Given the description of an element on the screen output the (x, y) to click on. 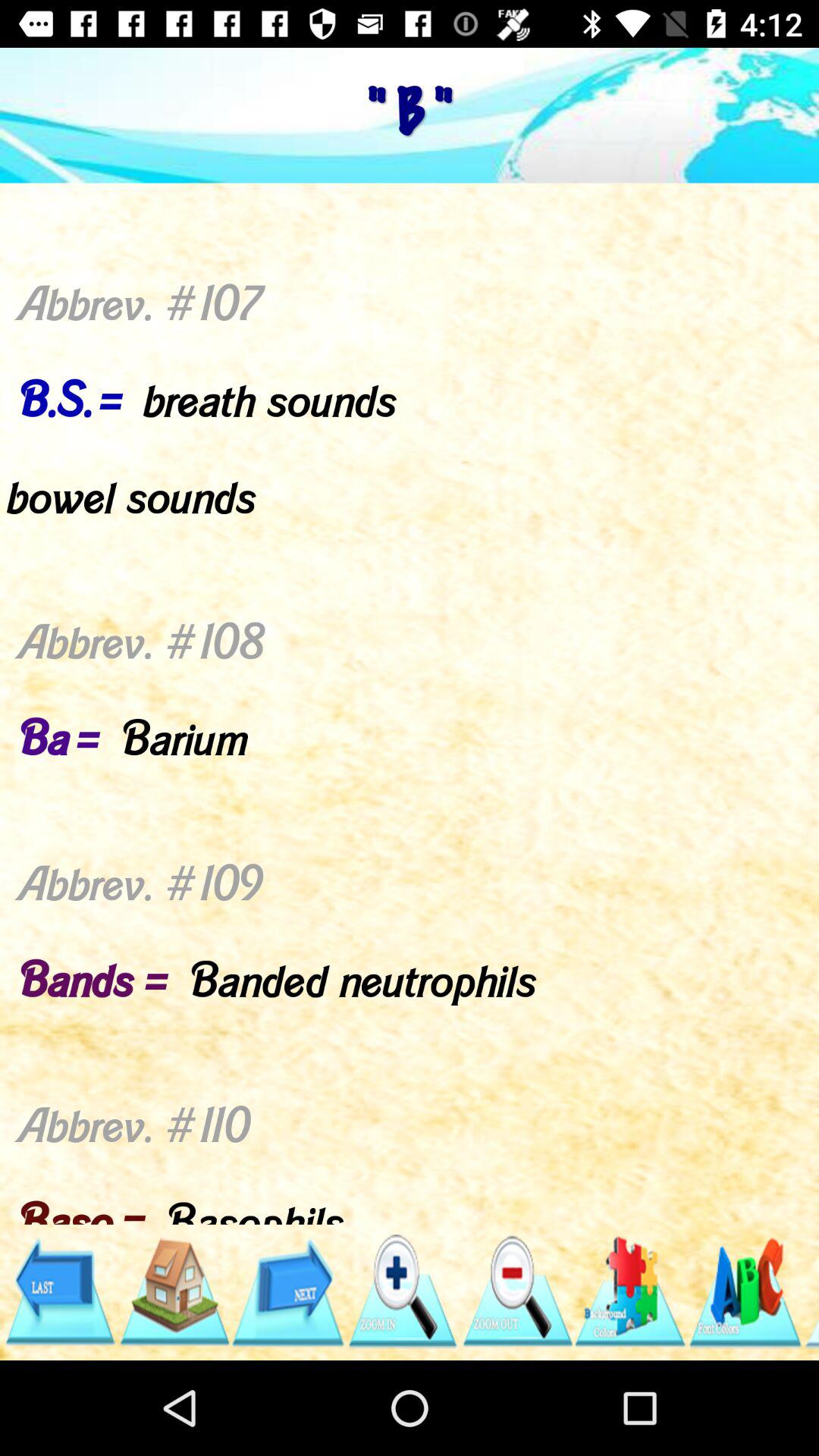
next (287, 1291)
